Given the description of an element on the screen output the (x, y) to click on. 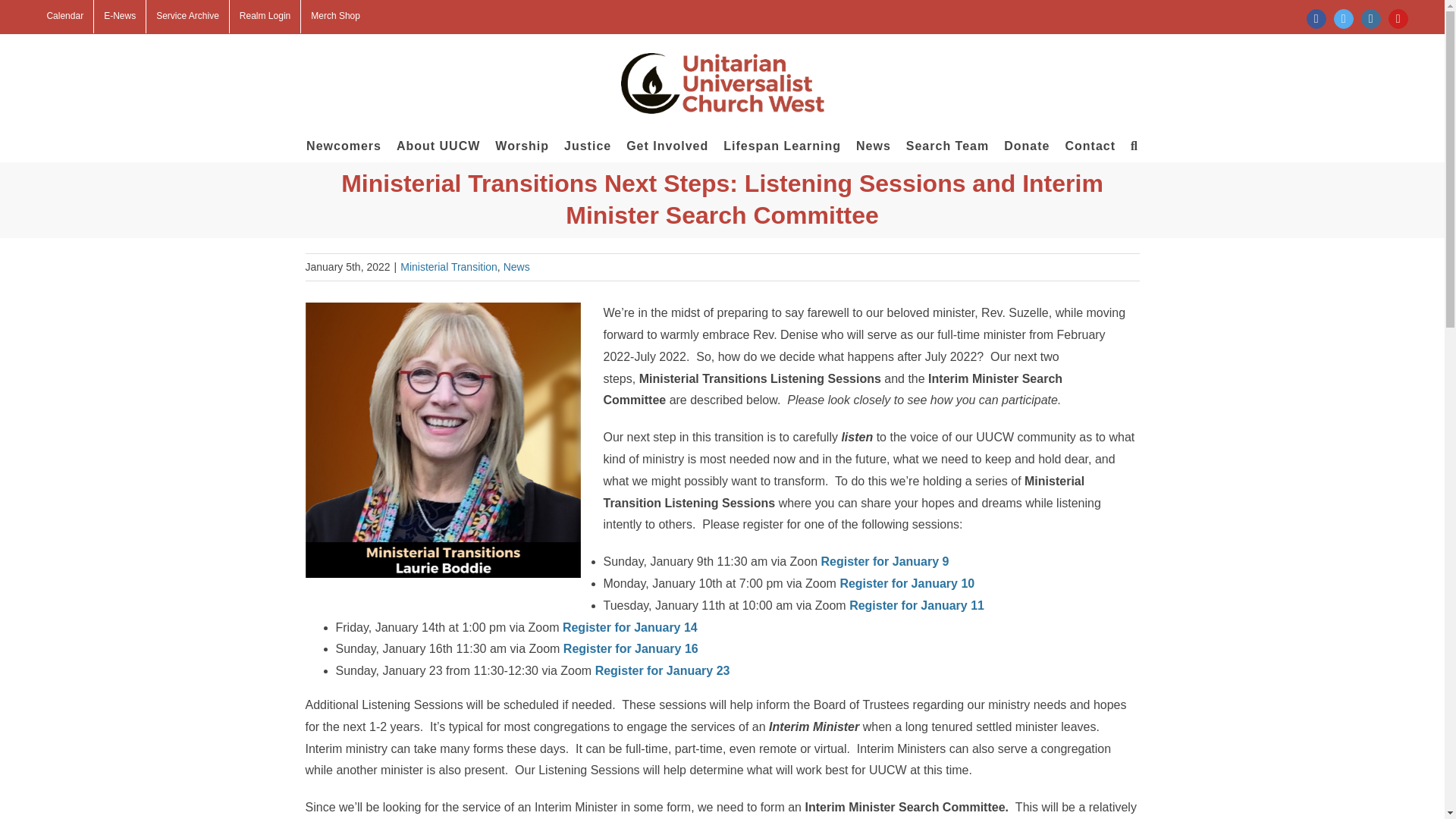
Newcomers (343, 145)
E-News (119, 16)
About UUCW (438, 145)
Merch Shop (335, 16)
Calendar (64, 16)
Realm Login (264, 16)
Facebook (1316, 18)
Twitter (1343, 18)
Worship (521, 145)
Justice (587, 145)
Service Archive (187, 16)
YouTube (1398, 18)
Instagram (1370, 18)
